Given the description of an element on the screen output the (x, y) to click on. 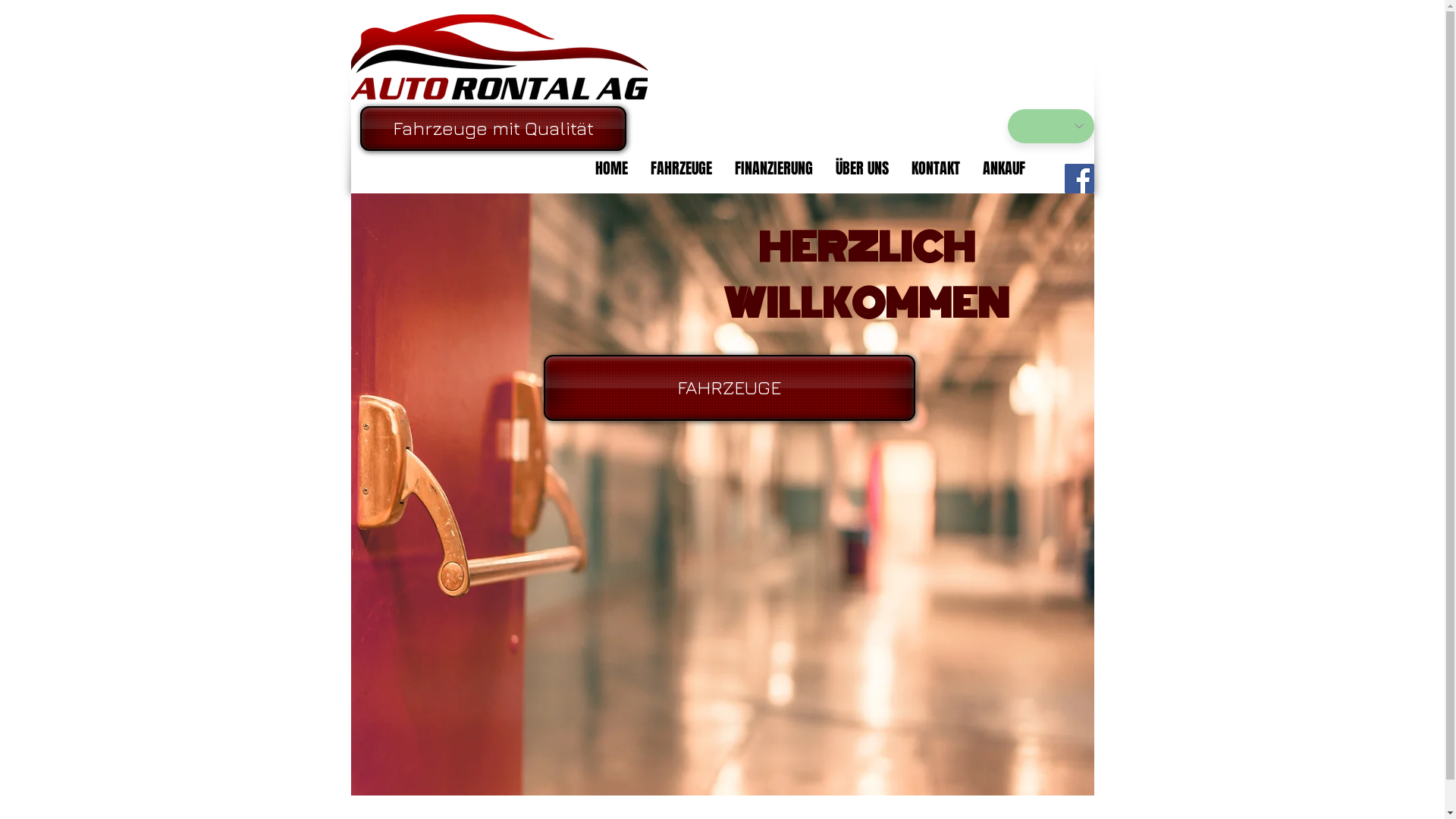
KONTAKT Element type: text (934, 168)
ANKAUF Element type: text (1002, 168)
FAHRZEUGE Element type: text (728, 387)
HOME Element type: text (611, 168)
FINANZIERUNG Element type: text (773, 168)
FAHRZEUGE Element type: text (680, 168)
